Given the description of an element on the screen output the (x, y) to click on. 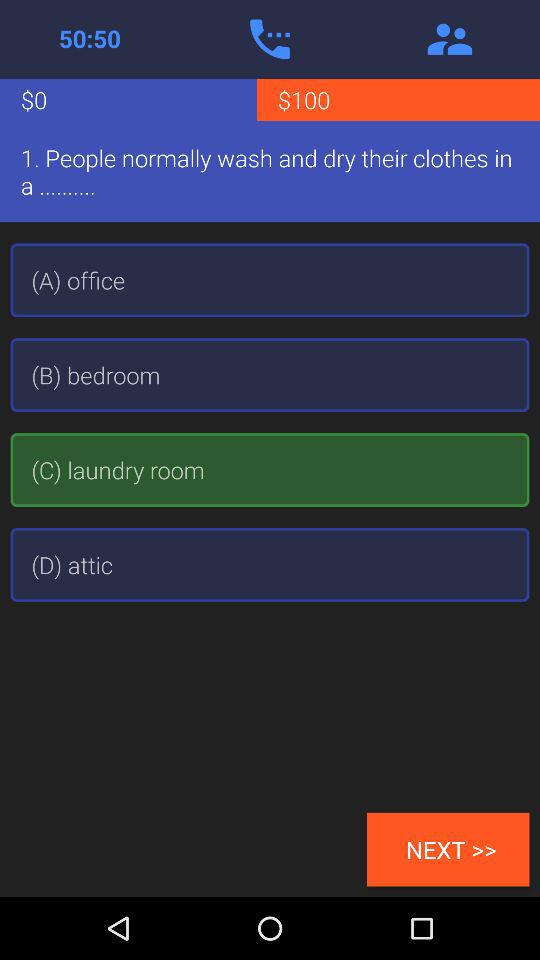
choose icon below 1 people normally icon (269, 280)
